Given the description of an element on the screen output the (x, y) to click on. 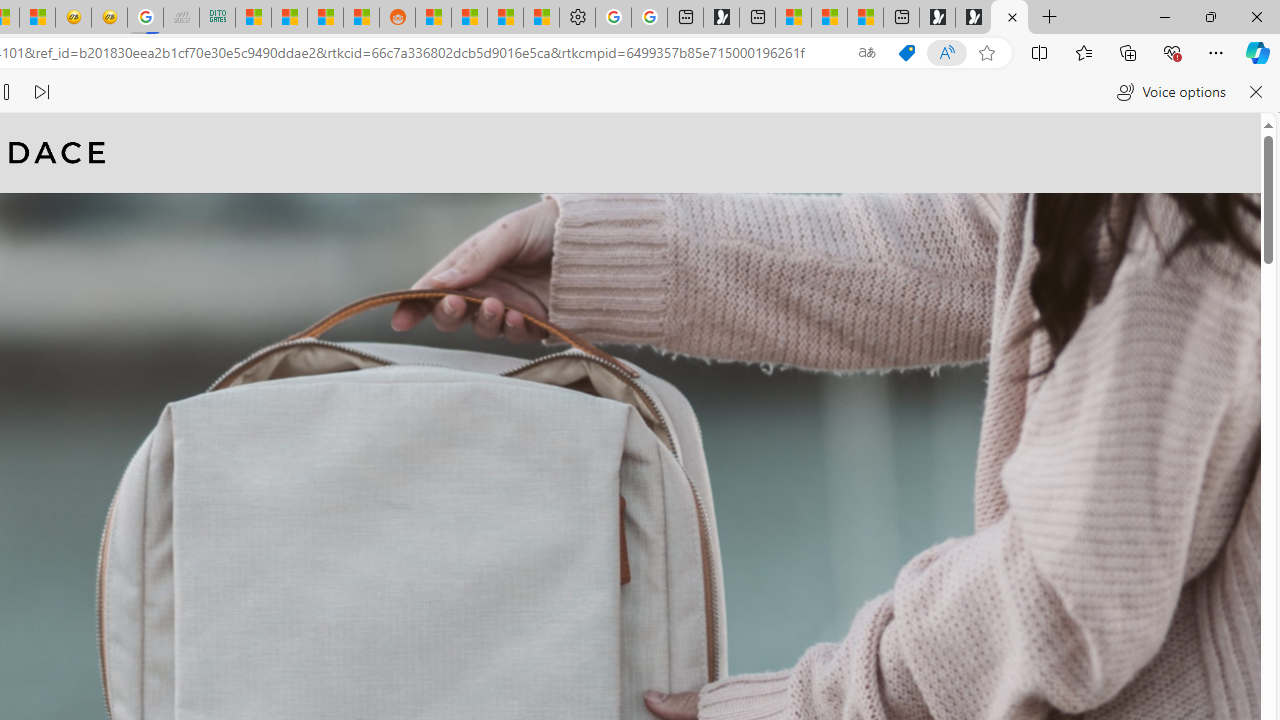
These 3 Stocks Pay You More Than 5% to Own Them (865, 17)
Show translate options (867, 53)
Stocks - MSN (325, 17)
MSN (361, 17)
